Given the description of an element on the screen output the (x, y) to click on. 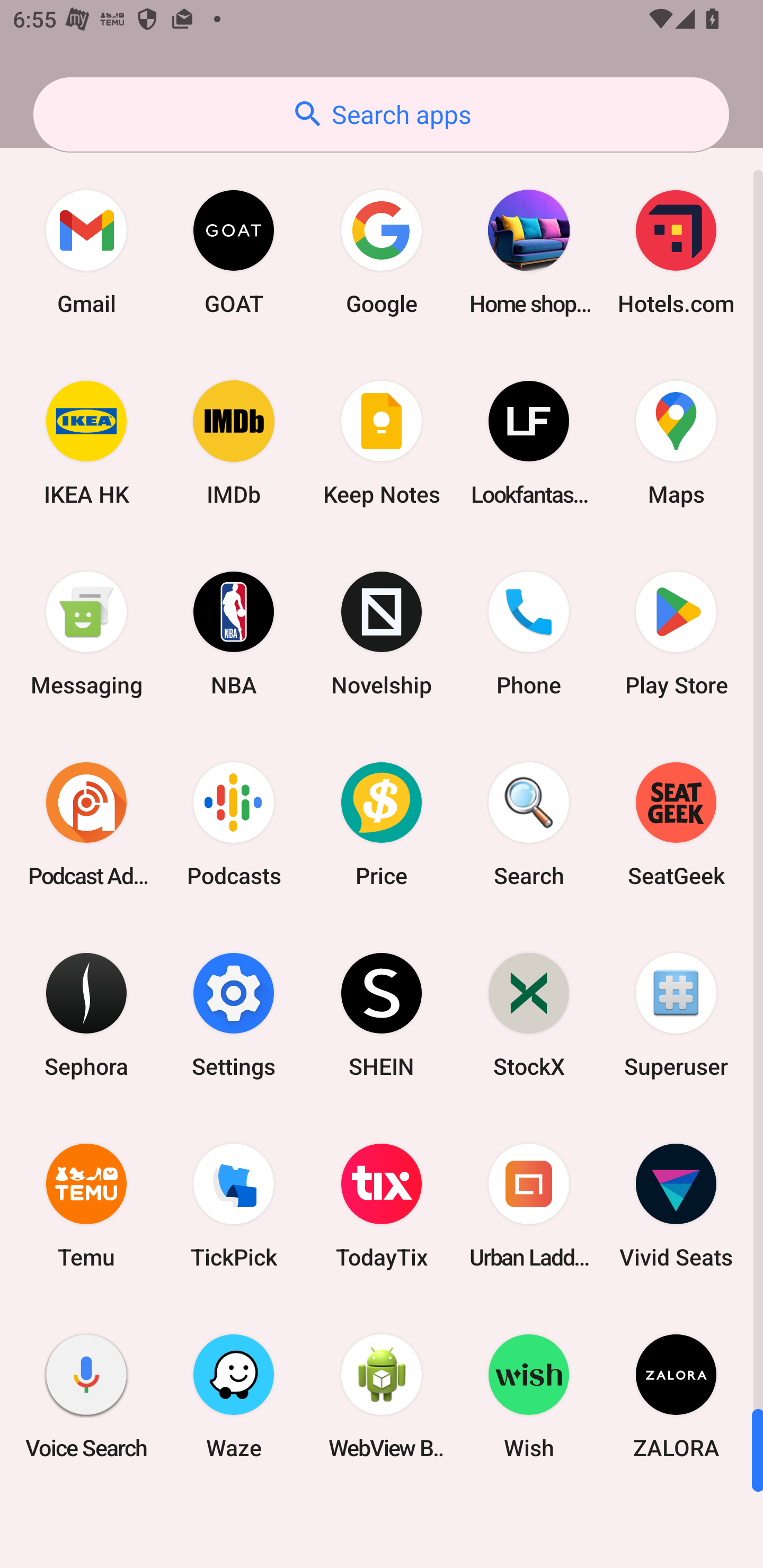
  Search apps (381, 114)
Gmail (86, 252)
GOAT (233, 252)
Google (381, 252)
Home shopping (528, 252)
Hotels.com (676, 252)
IKEA HK (86, 442)
IMDb (233, 442)
Keep Notes (381, 442)
Lookfantastic (528, 442)
Maps (676, 442)
Messaging (86, 633)
NBA (233, 633)
Novelship (381, 633)
Phone (528, 633)
Play Store (676, 633)
Podcast Addict (86, 823)
Podcasts (233, 823)
Price (381, 823)
Search (528, 823)
SeatGeek (676, 823)
Sephora (86, 1014)
Settings (233, 1014)
SHEIN (381, 1014)
StockX (528, 1014)
Superuser (676, 1014)
Temu (86, 1205)
TickPick (233, 1205)
TodayTix (381, 1205)
Urban Ladder (528, 1205)
Vivid Seats (676, 1205)
Voice Search (86, 1396)
Waze (233, 1396)
WebView Browser Tester (381, 1396)
Wish (528, 1396)
ZALORA (676, 1396)
